Given the description of an element on the screen output the (x, y) to click on. 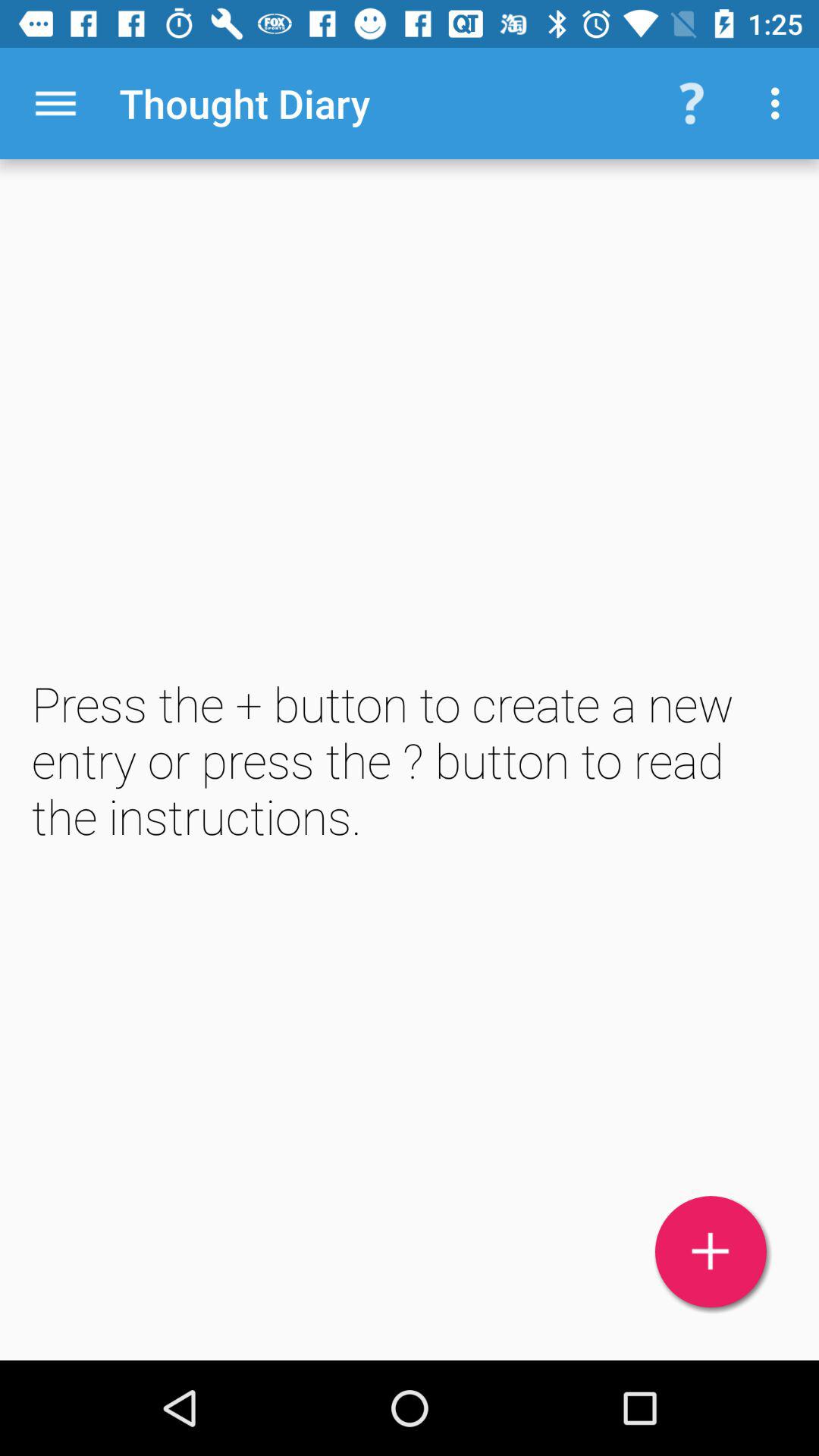
choose the icon at the bottom right corner (710, 1251)
